Given the description of an element on the screen output the (x, y) to click on. 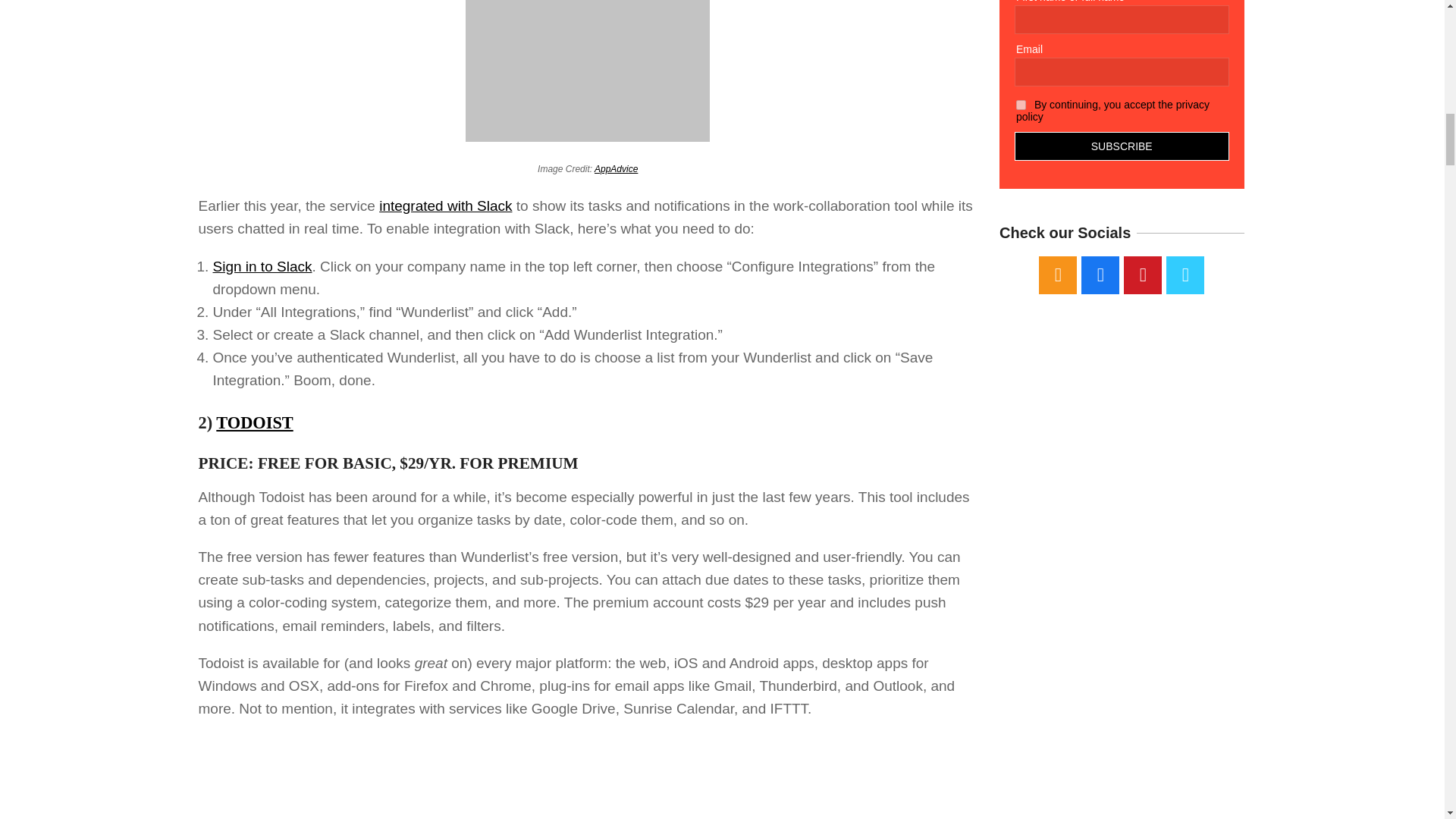
on (1021, 104)
wunderlist-screenshot.jpeg (587, 70)
Subscribe (1121, 145)
